Given the description of an element on the screen output the (x, y) to click on. 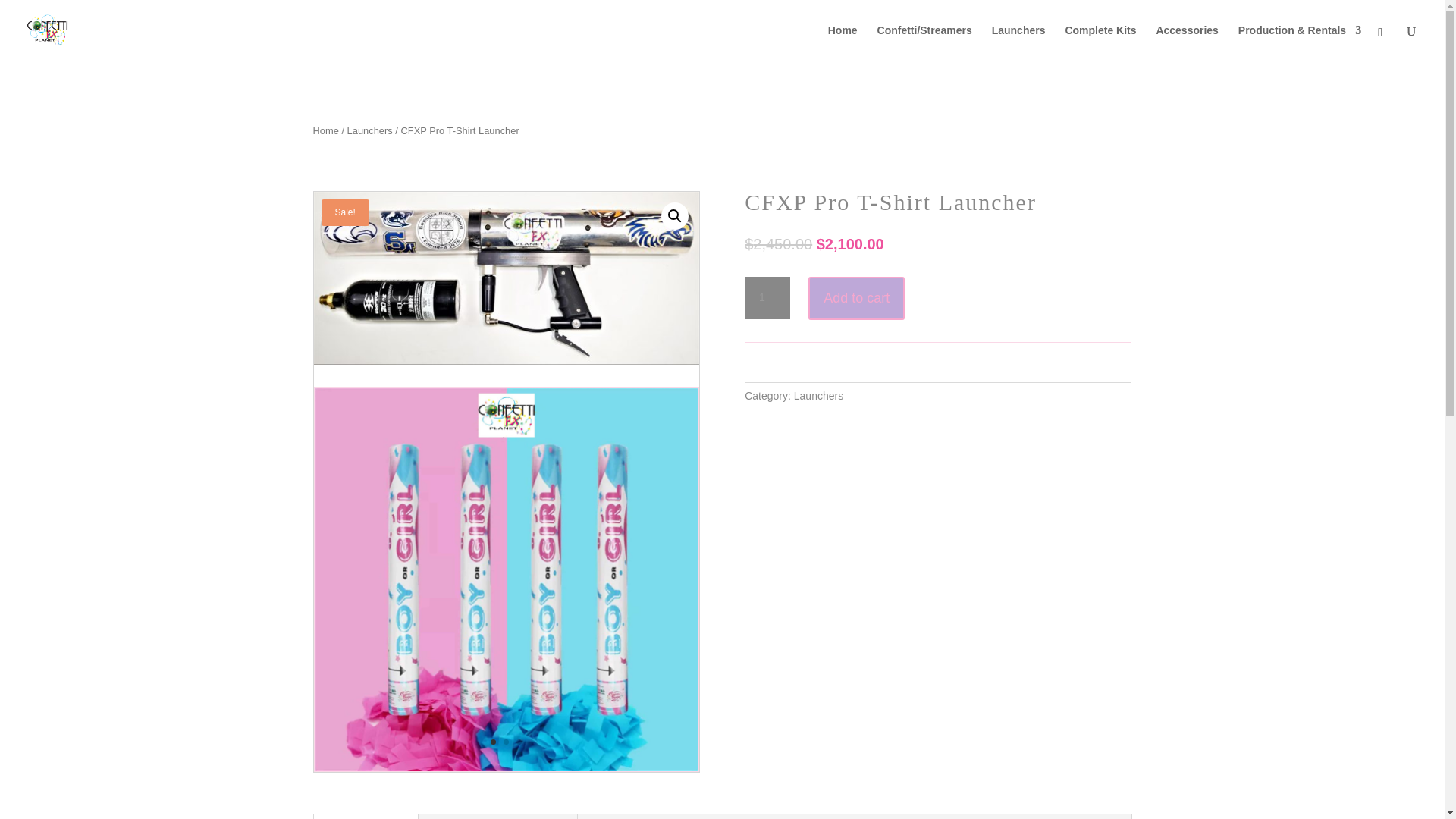
Launchers (370, 130)
Launchers (1018, 42)
Description (365, 816)
Complete Kits (1099, 42)
CFXP Pro T-Shirt Launcher 1 (506, 277)
Launchers (818, 395)
Add to cart (856, 298)
Accessories (1187, 42)
Additional information (497, 816)
1 (767, 297)
Home (325, 130)
2643-202111291632057213 (505, 767)
